Given the description of an element on the screen output the (x, y) to click on. 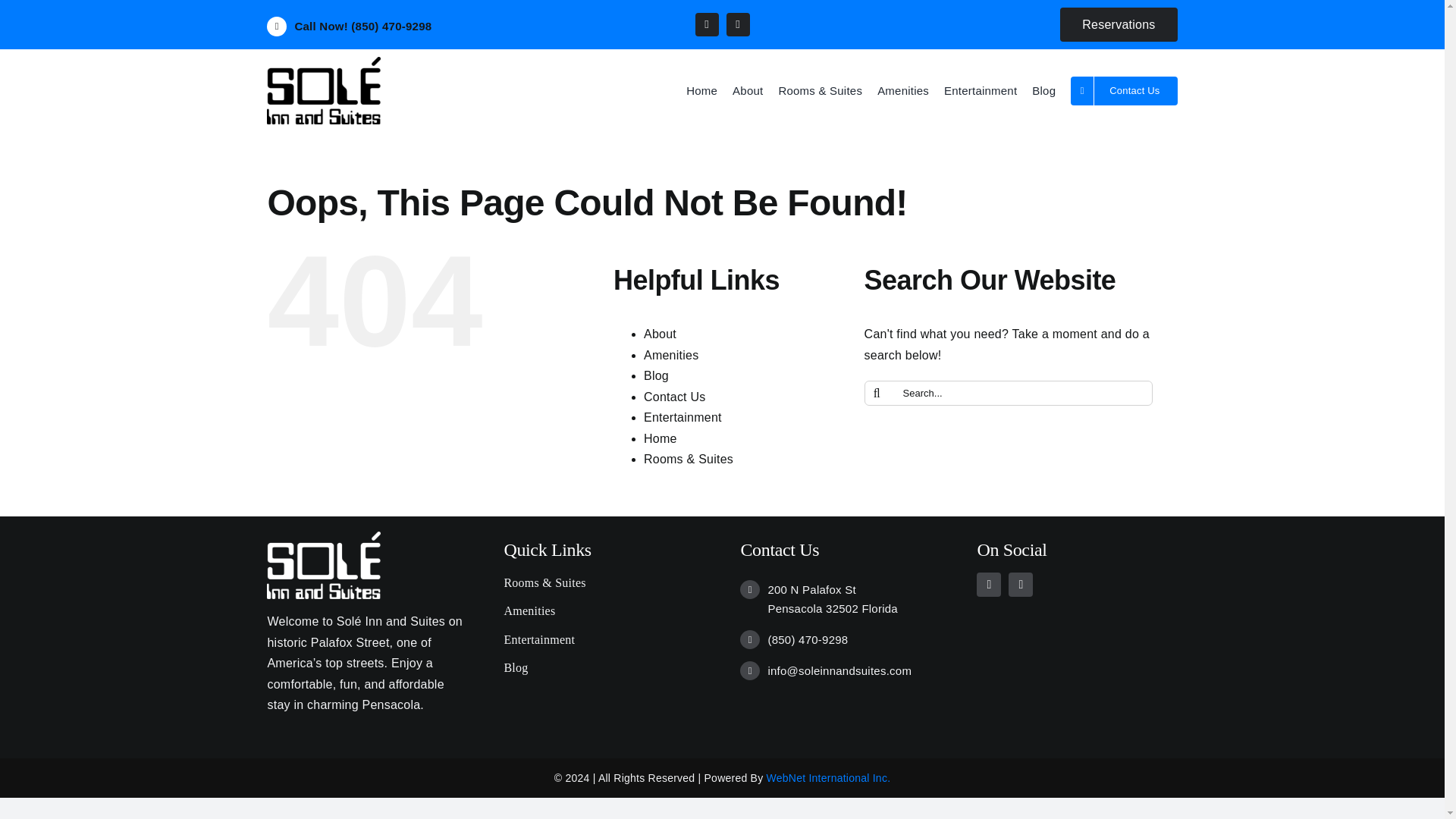
Contact Us (1123, 90)
About (660, 333)
Home (660, 438)
Amenities (902, 90)
Entertainment (979, 90)
Blog (655, 375)
Entertainment (682, 417)
Sole Inn nad Suits White (323, 564)
Contact Us (674, 396)
Blog (603, 667)
